Given the description of an element on the screen output the (x, y) to click on. 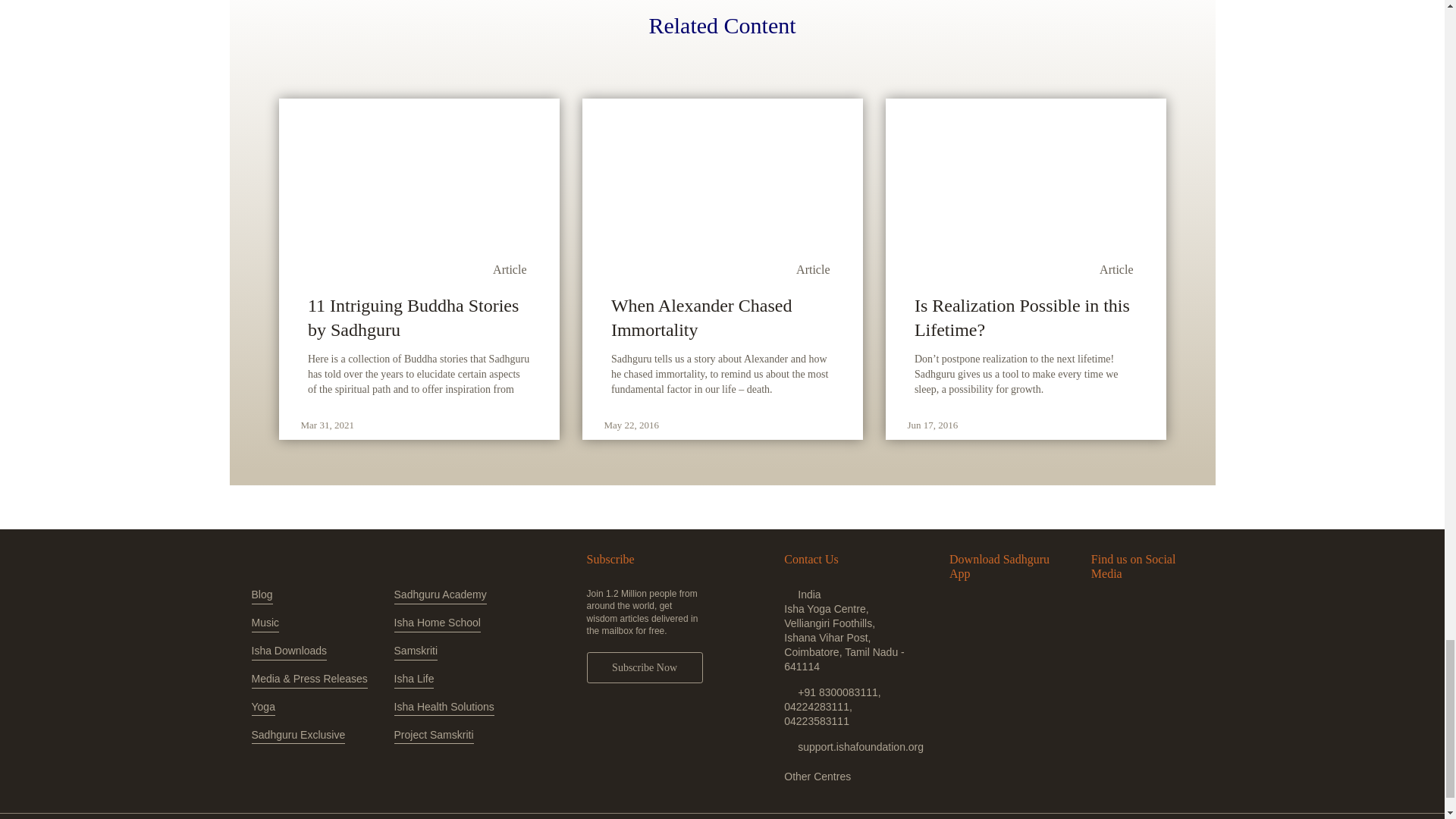
When Alexander Chased Immortality (721, 317)
Is Realization Possible in this Lifetime? (1025, 317)
11 Intriguing Buddha Stories by Sadhguru (418, 317)
